Given the description of an element on the screen output the (x, y) to click on. 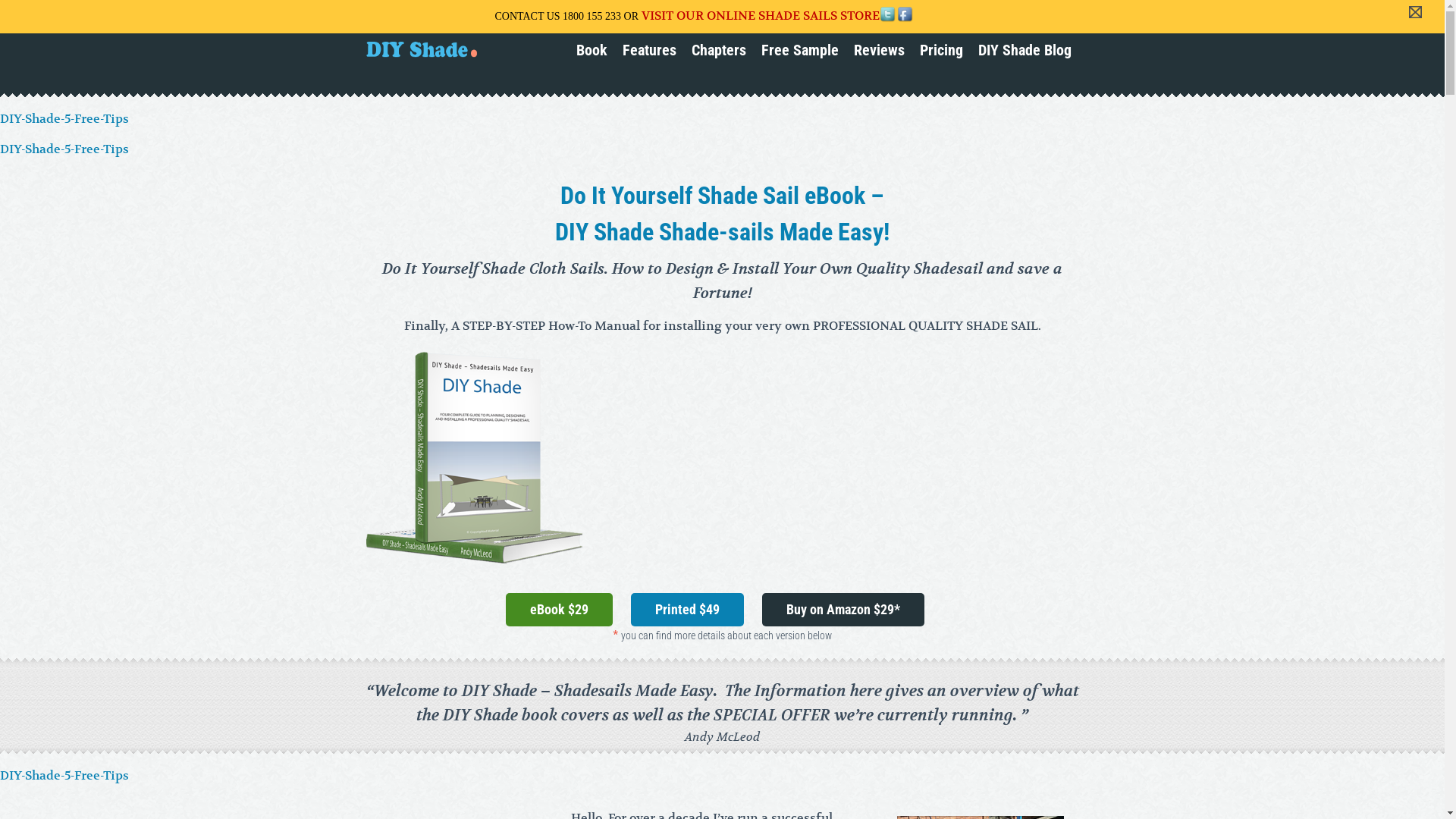
Book Element type: text (591, 49)
Pricing Element type: text (940, 49)
eBook $29 Element type: text (558, 609)
DIY Shade Blog Element type: text (1024, 49)
Buy on Amazon $29* Element type: text (842, 609)
DIY-Shade-5-Free-Tips Element type: text (64, 118)
Chapters Element type: text (718, 49)
Printed $49 Element type: text (686, 609)
VISIT OUR ONLINE SHADE SAILS STORE Element type: text (760, 15)
Features Element type: text (648, 49)
DIY-Shade-5-Free-Tips Element type: text (64, 775)
DIY-Shade-5-Free-Tips Element type: text (64, 148)
Free Sample Element type: text (799, 49)
Reviews Element type: text (878, 49)
